Given the description of an element on the screen output the (x, y) to click on. 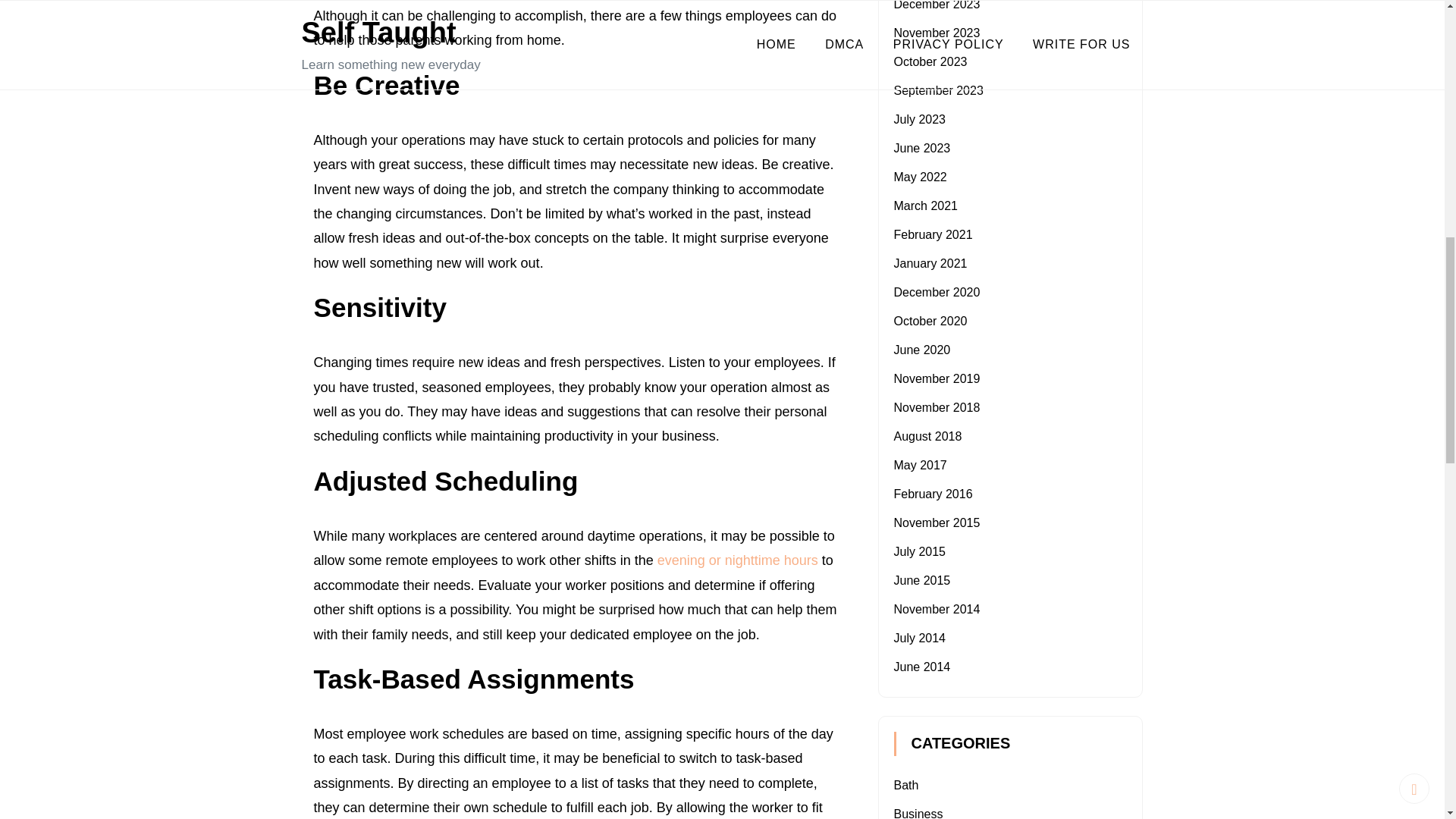
May 2022 (919, 176)
March 2021 (925, 205)
February 2021 (932, 234)
October 2023 (929, 61)
July 2023 (918, 119)
September 2023 (937, 90)
January 2021 (929, 263)
December 2023 (936, 5)
November 2023 (936, 32)
June 2023 (921, 147)
